Given the description of an element on the screen output the (x, y) to click on. 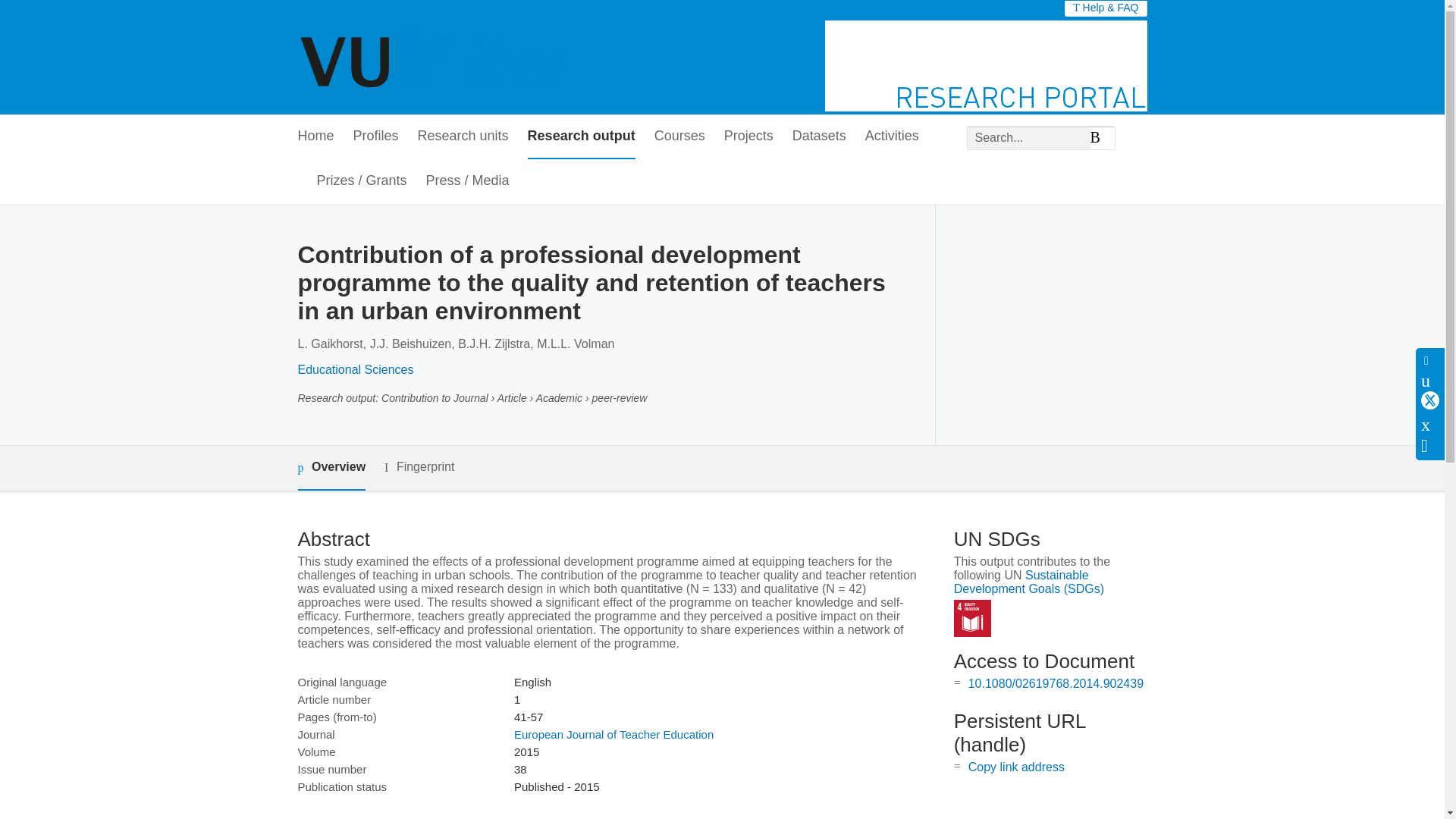
Courses (678, 136)
Projects (748, 136)
Profiles (375, 136)
Datasets (818, 136)
Research units (462, 136)
Copy link address (1016, 766)
Research output (580, 136)
Educational Sciences (355, 369)
SDG 4 - Quality Education (972, 618)
